Given the description of an element on the screen output the (x, y) to click on. 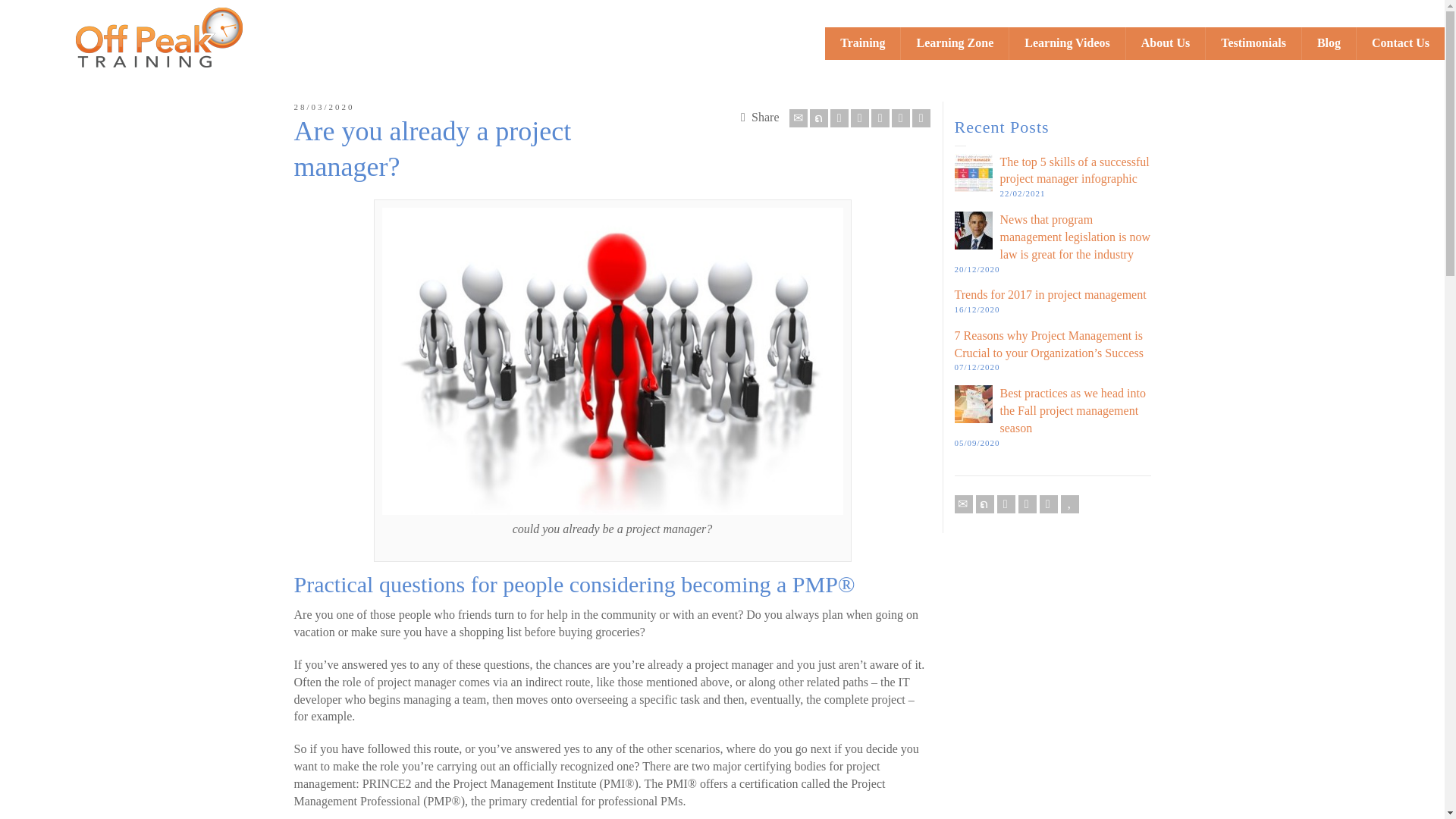
Linkedin (921, 117)
Blog (1328, 43)
Twitter (818, 117)
Off Peak Training (159, 35)
Learning Zone (955, 43)
Pinterest (879, 117)
Training (863, 43)
Facebook (838, 117)
Learning Videos (1067, 43)
Testimonials (1253, 43)
Trends for 2017 in project management (1049, 294)
Tumblr (900, 117)
About Us (1165, 43)
Email (798, 117)
